Given the description of an element on the screen output the (x, y) to click on. 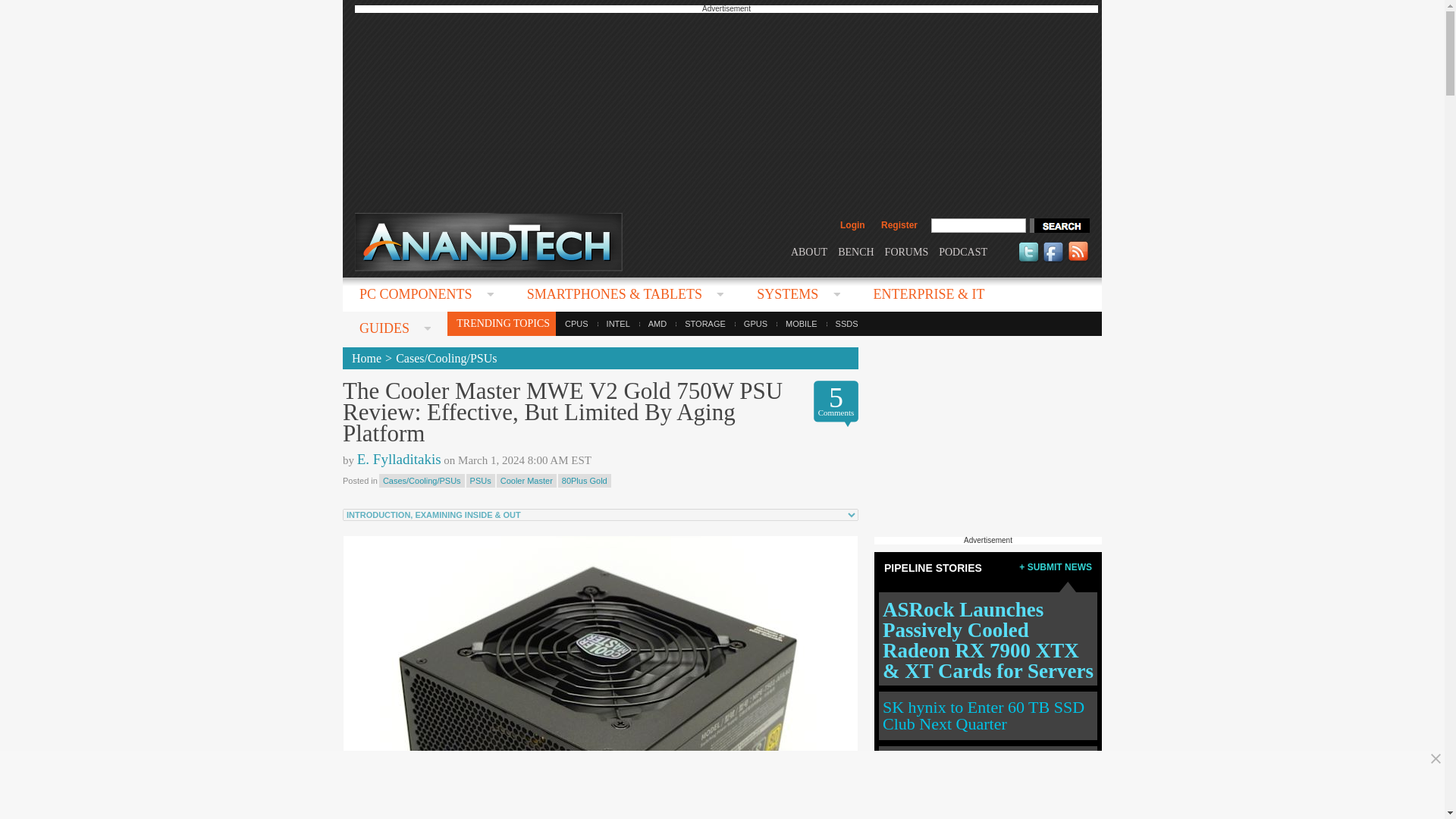
search (1059, 225)
BENCH (855, 251)
FORUMS (906, 251)
Register (898, 225)
PODCAST (963, 251)
Login (852, 225)
ABOUT (808, 251)
search (1059, 225)
search (1059, 225)
